Given the description of an element on the screen output the (x, y) to click on. 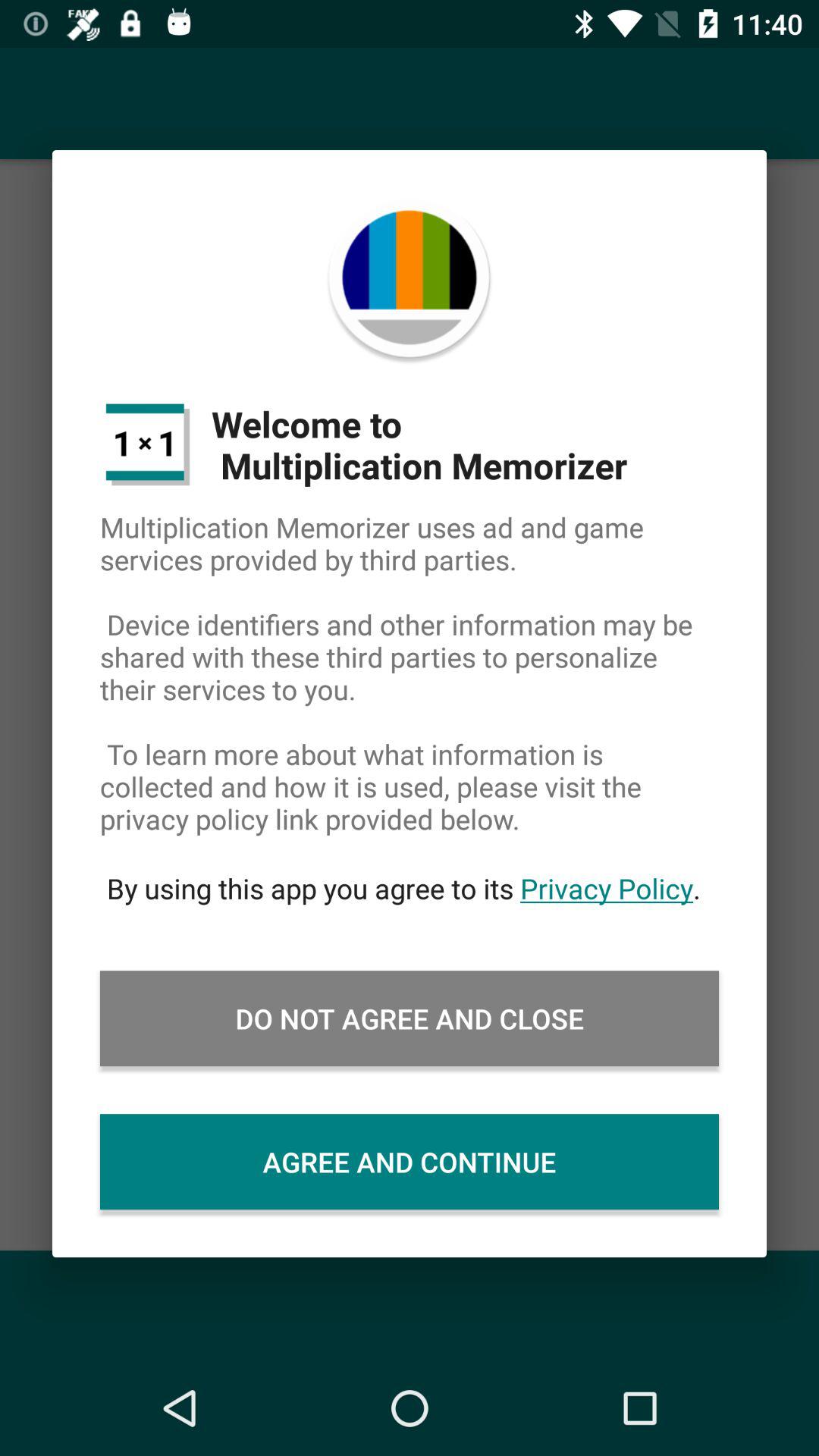
press item below by using this (409, 1018)
